Given the description of an element on the screen output the (x, y) to click on. 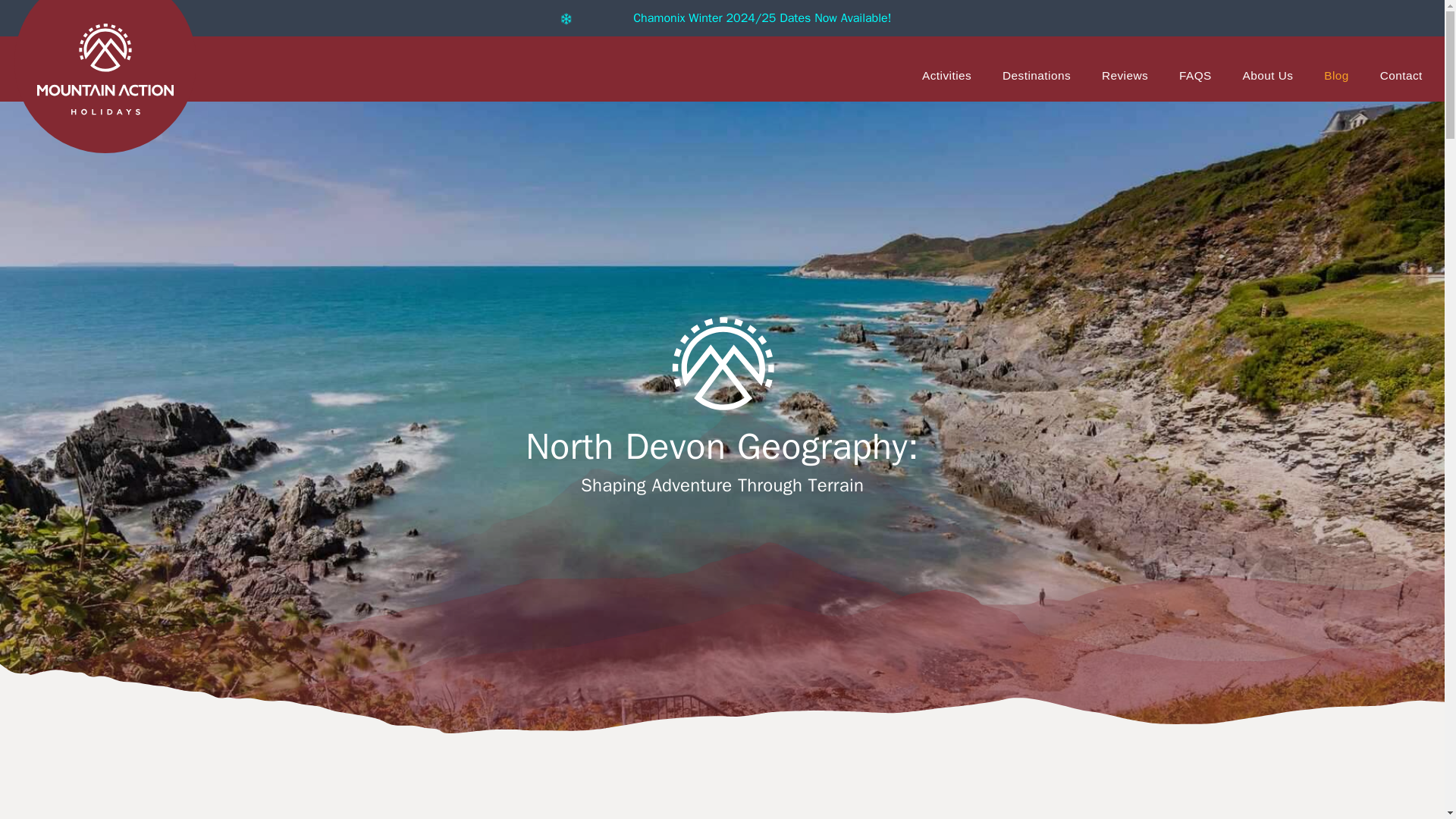
Reviews (1125, 73)
Destinations (1036, 73)
Blog (1336, 73)
About Us (1267, 73)
Activities (946, 73)
Contact (1401, 73)
FAQS (1196, 73)
